Given the description of an element on the screen output the (x, y) to click on. 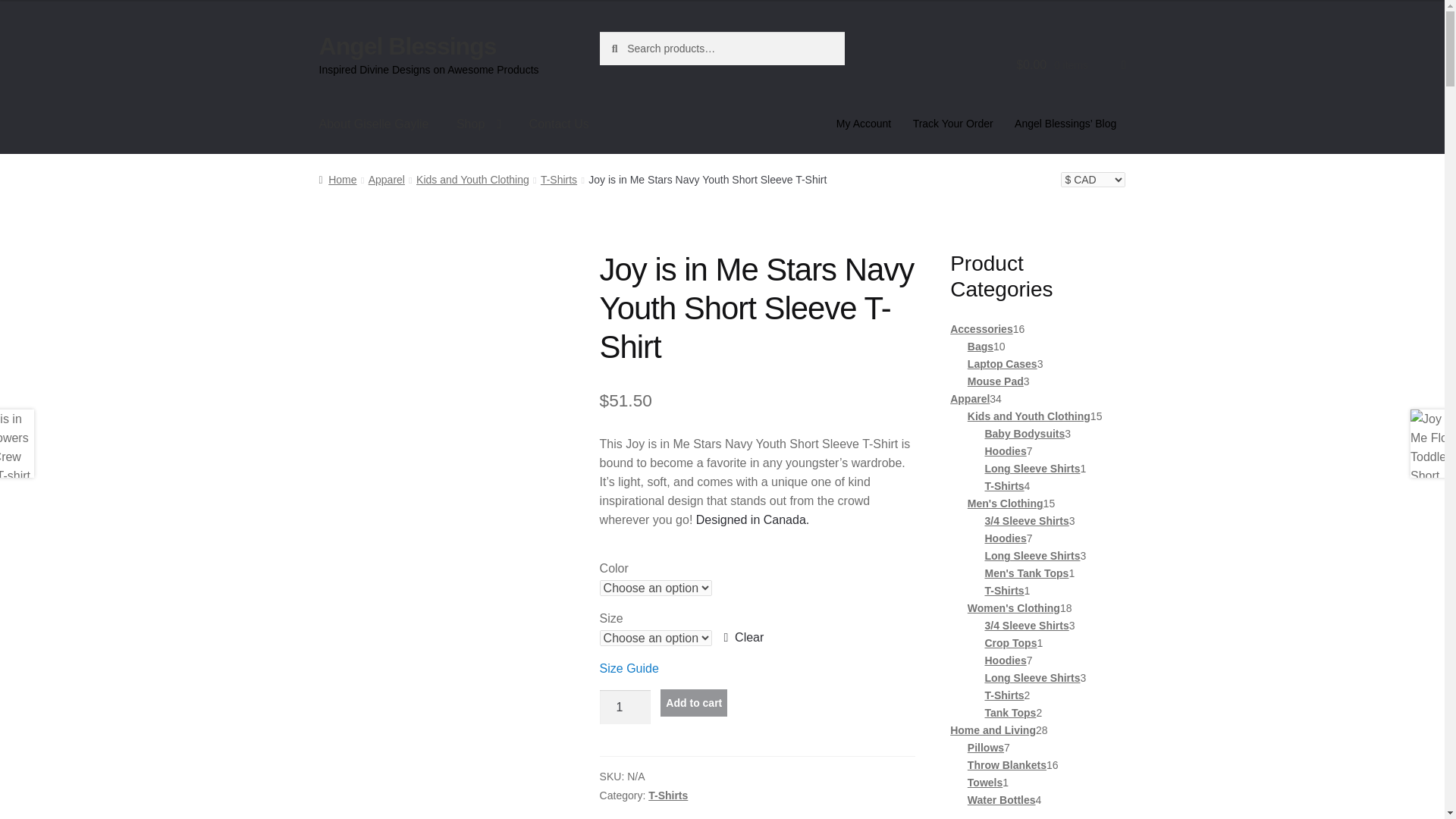
Angel Blessings (407, 45)
1 (624, 707)
Contact Us (558, 124)
About Giselle Gaylie (374, 124)
Shop (478, 124)
View your shopping cart (1070, 65)
